Given the description of an element on the screen output the (x, y) to click on. 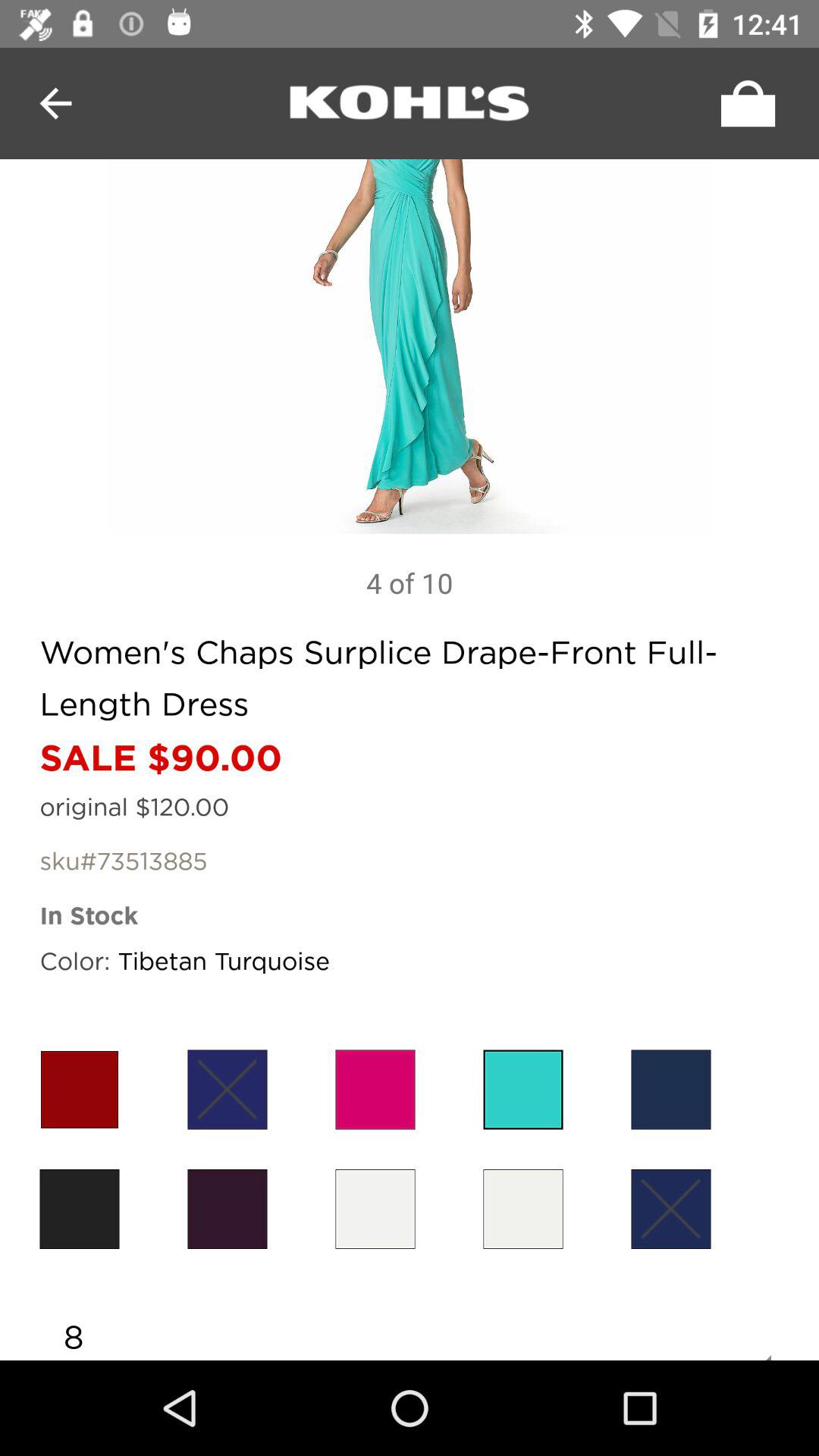
tap the item above the 4 of 10 (409, 346)
